Given the description of an element on the screen output the (x, y) to click on. 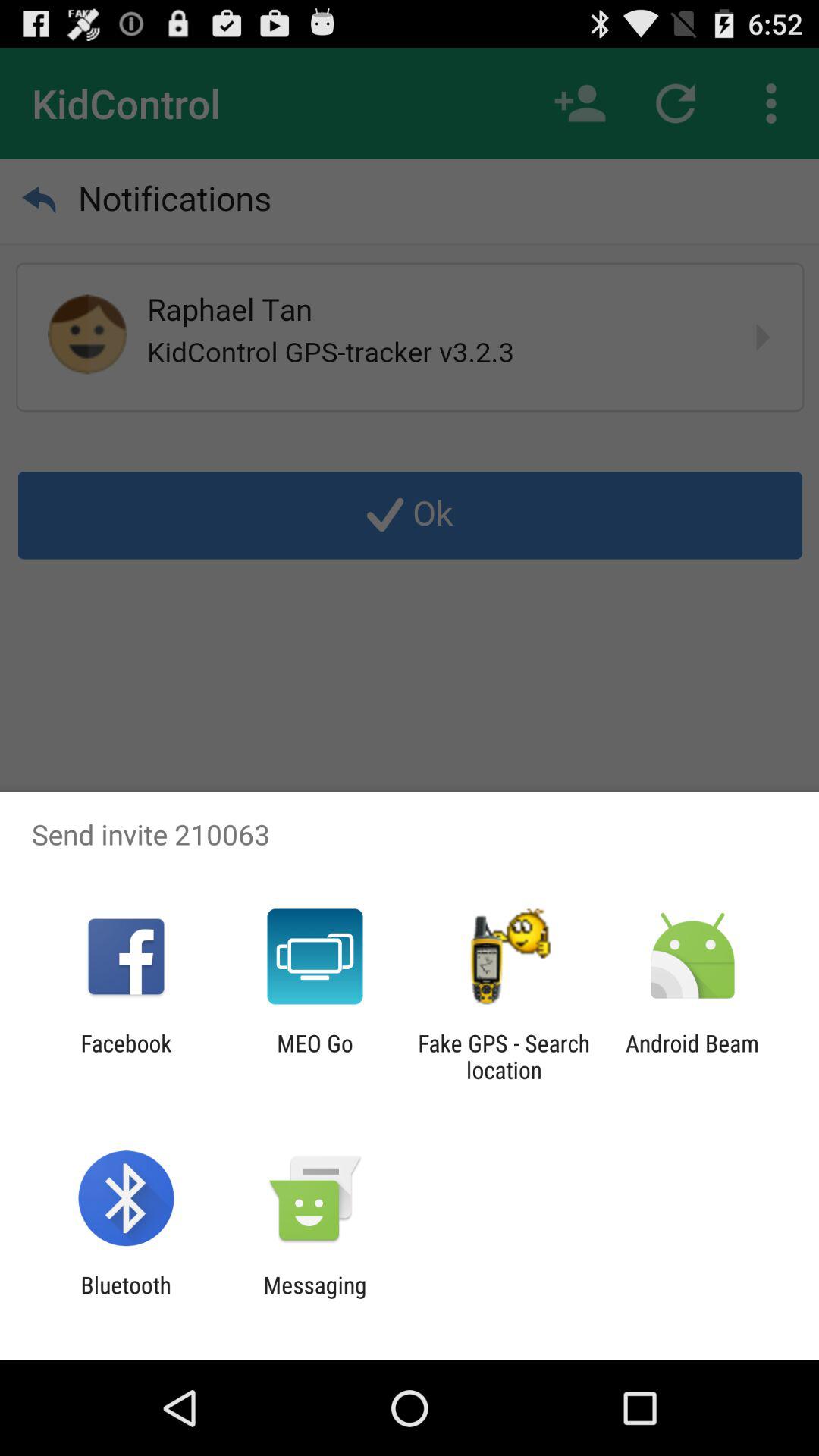
scroll to the meo go (314, 1056)
